Given the description of an element on the screen output the (x, y) to click on. 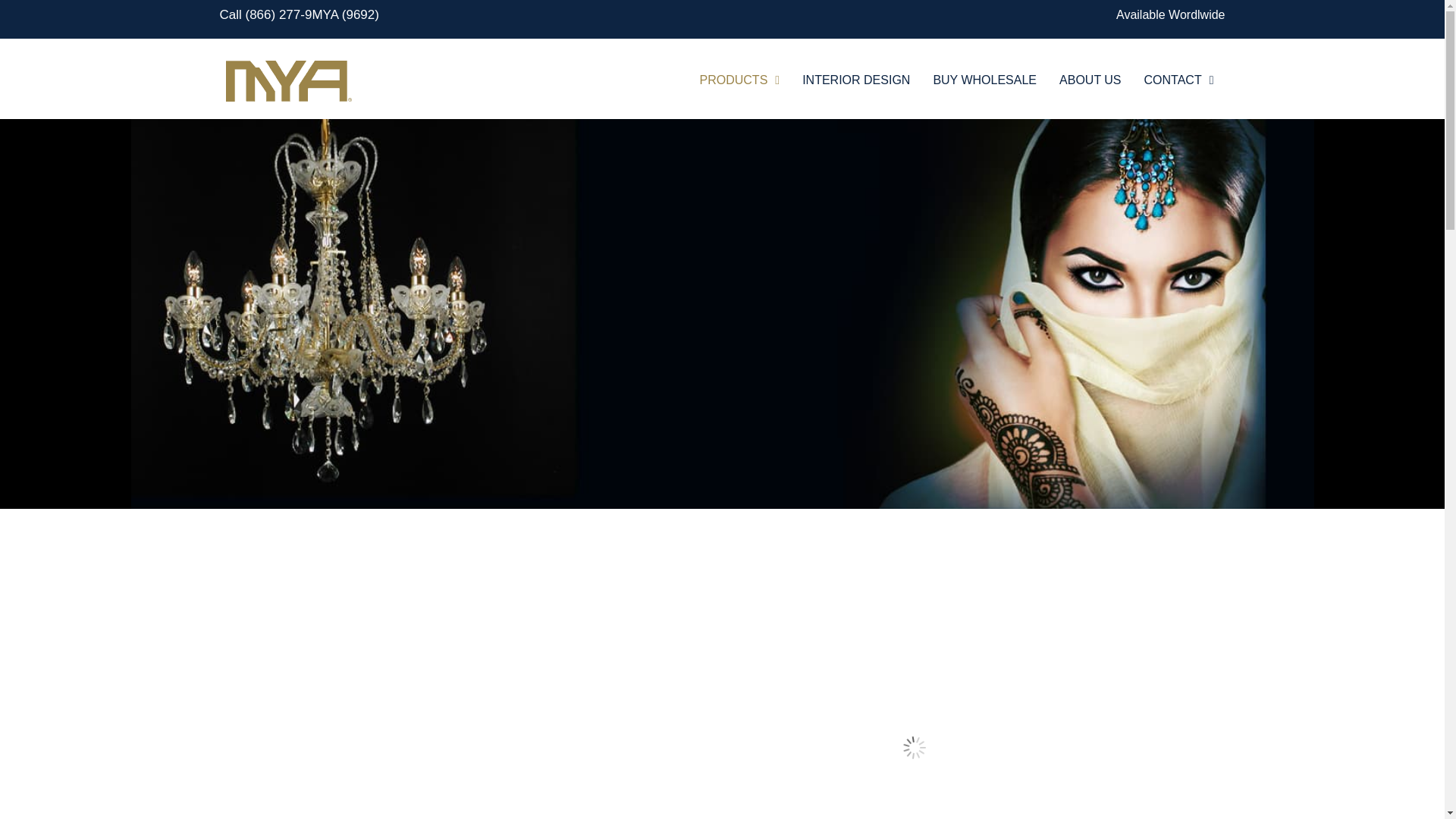
ABOUT US (1090, 80)
PRODUCTS (740, 80)
CONTACT (1179, 80)
INTERIOR DESIGN (855, 80)
mya-logo-larger.png (285, 80)
BUY WHOLESALE (983, 80)
